Given the description of an element on the screen output the (x, y) to click on. 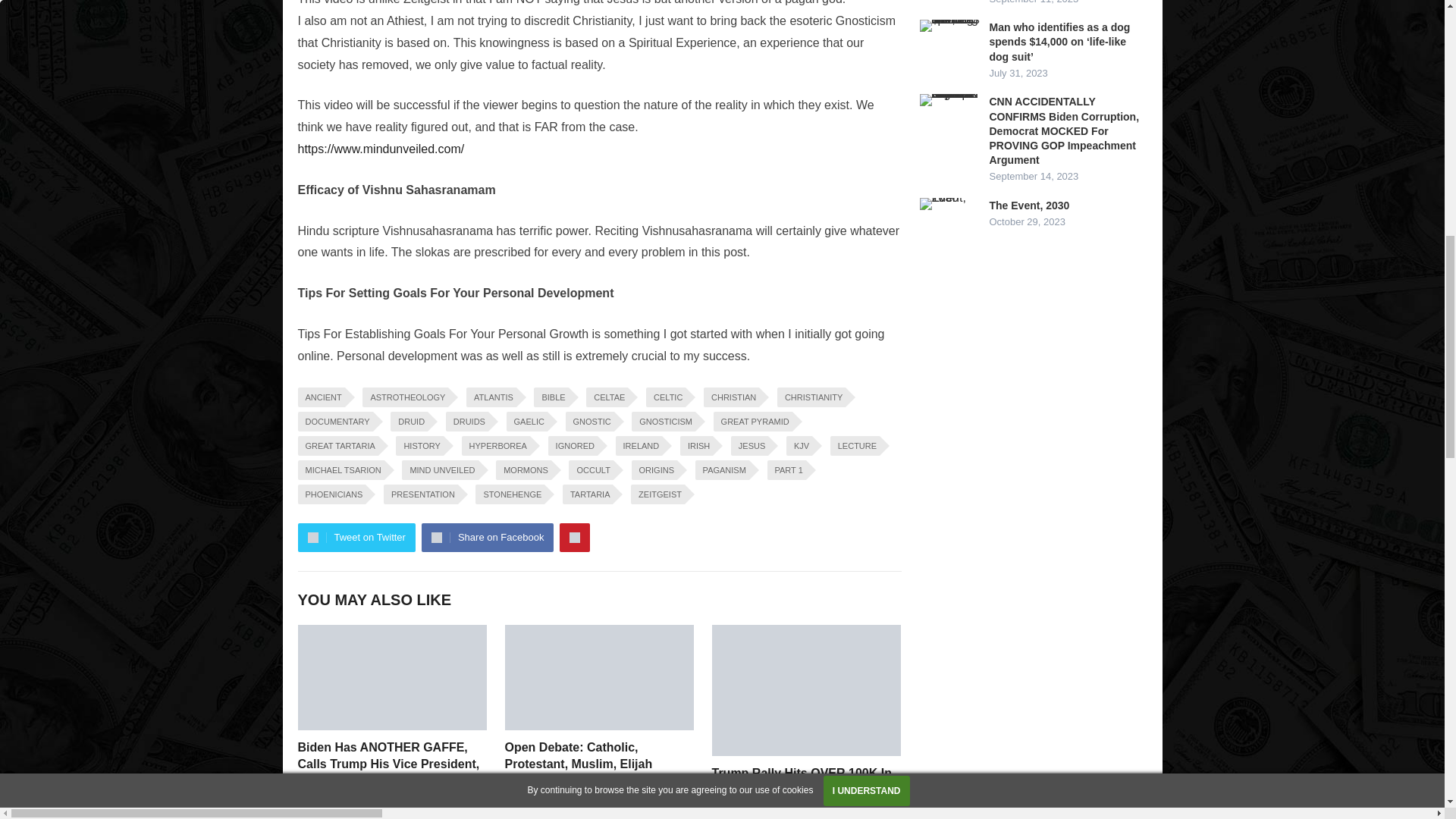
GREAT TARTARIA (337, 445)
CHRISTIAN (730, 397)
GNOSTIC (590, 421)
CHRISTIANITY (811, 397)
DRUIDS (466, 421)
ASTROTHEOLOGY (405, 397)
GNOSTICISM (663, 421)
GREAT PYRAMID (752, 421)
DRUID (409, 421)
ANCIENT (320, 397)
BIBLE (550, 397)
CELTAE (606, 397)
DOCUMENTARY (334, 421)
GAELIC (526, 421)
ATLANTIS (490, 397)
